Given the description of an element on the screen output the (x, y) to click on. 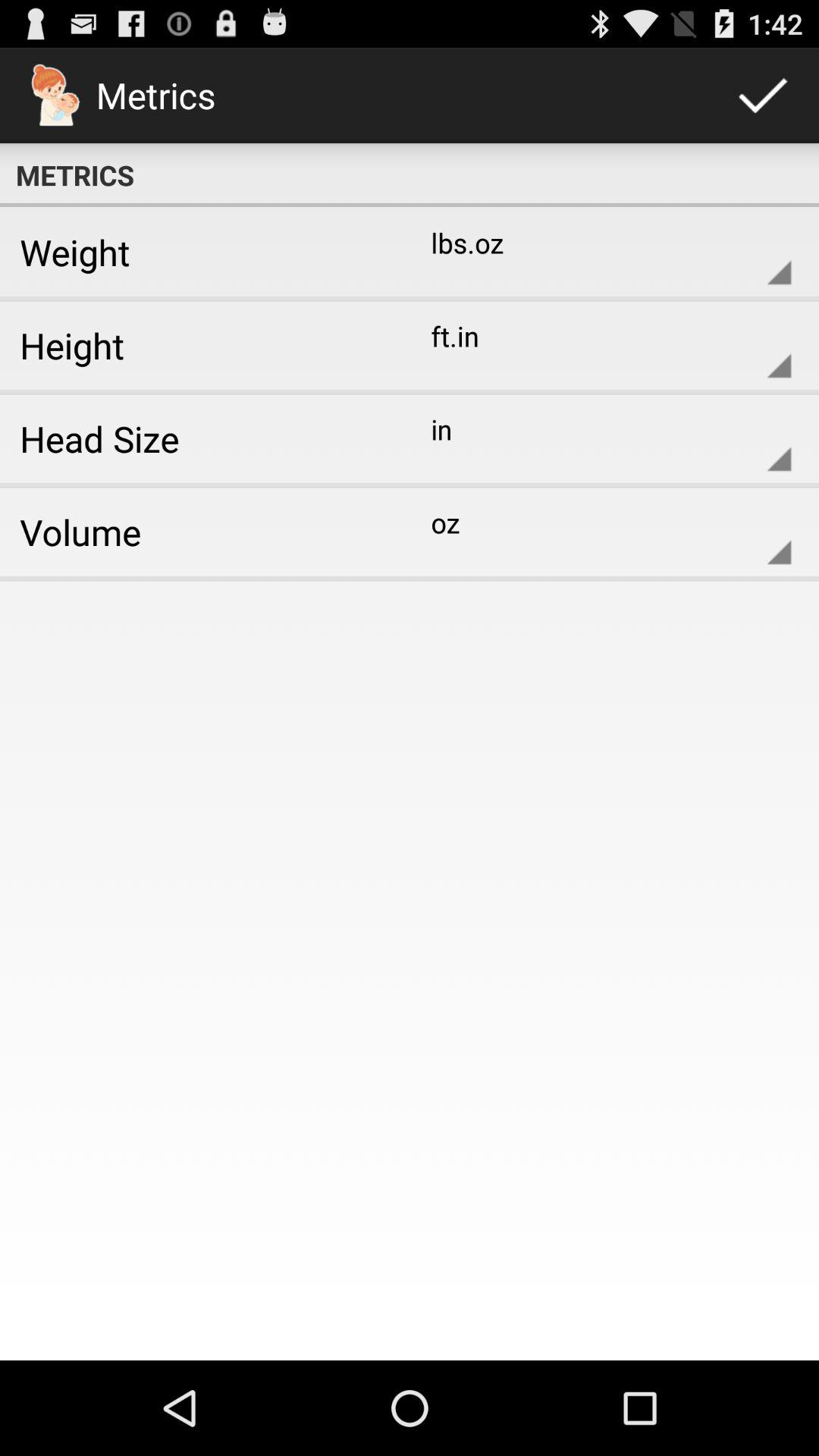
tap the item next to oz app (199, 531)
